Given the description of an element on the screen output the (x, y) to click on. 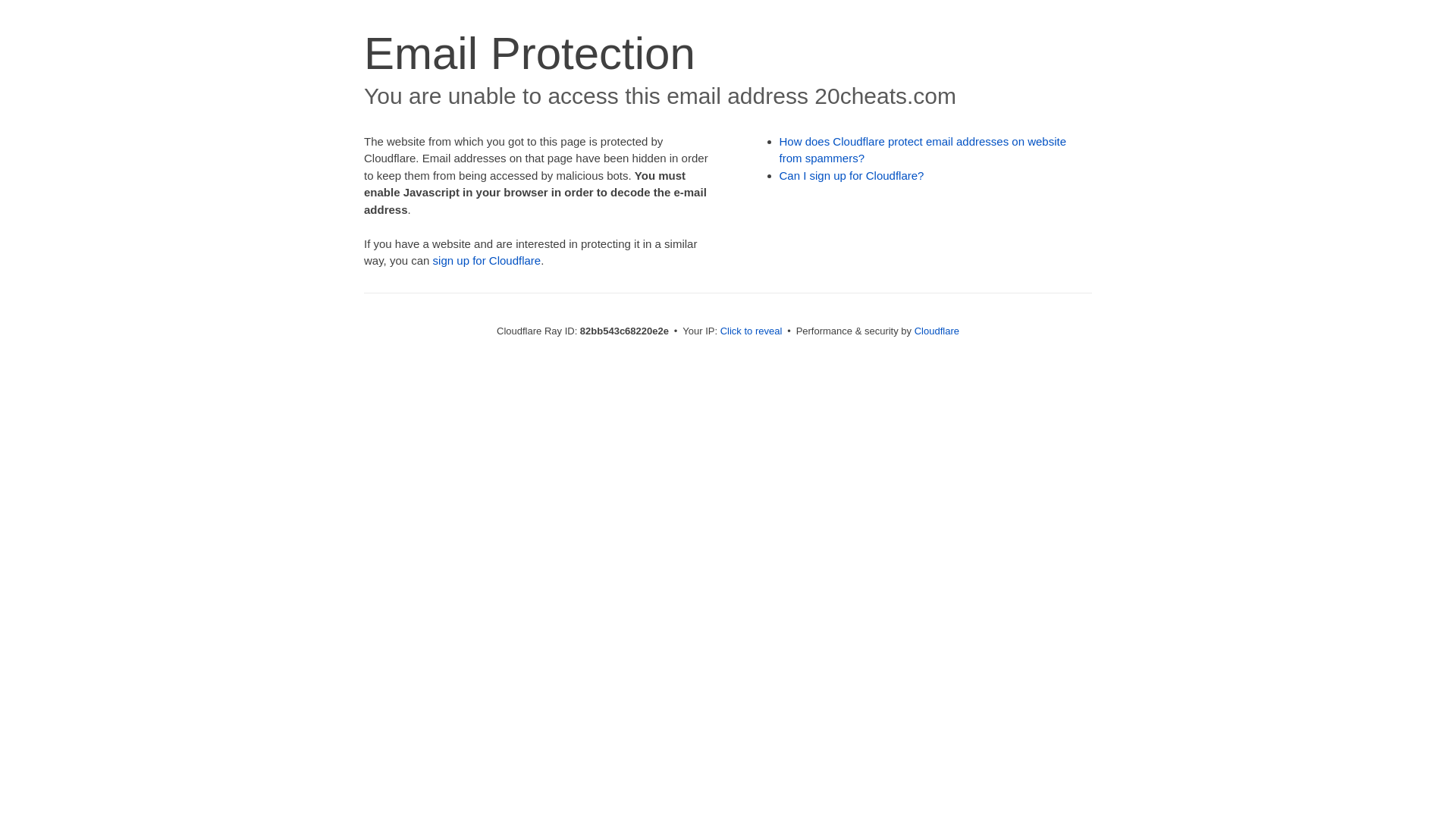
sign up for Cloudflare Element type: text (487, 260)
Can I sign up for Cloudflare? Element type: text (851, 175)
Click to reveal Element type: text (751, 330)
Cloudflare Element type: text (936, 330)
